Given the description of an element on the screen output the (x, y) to click on. 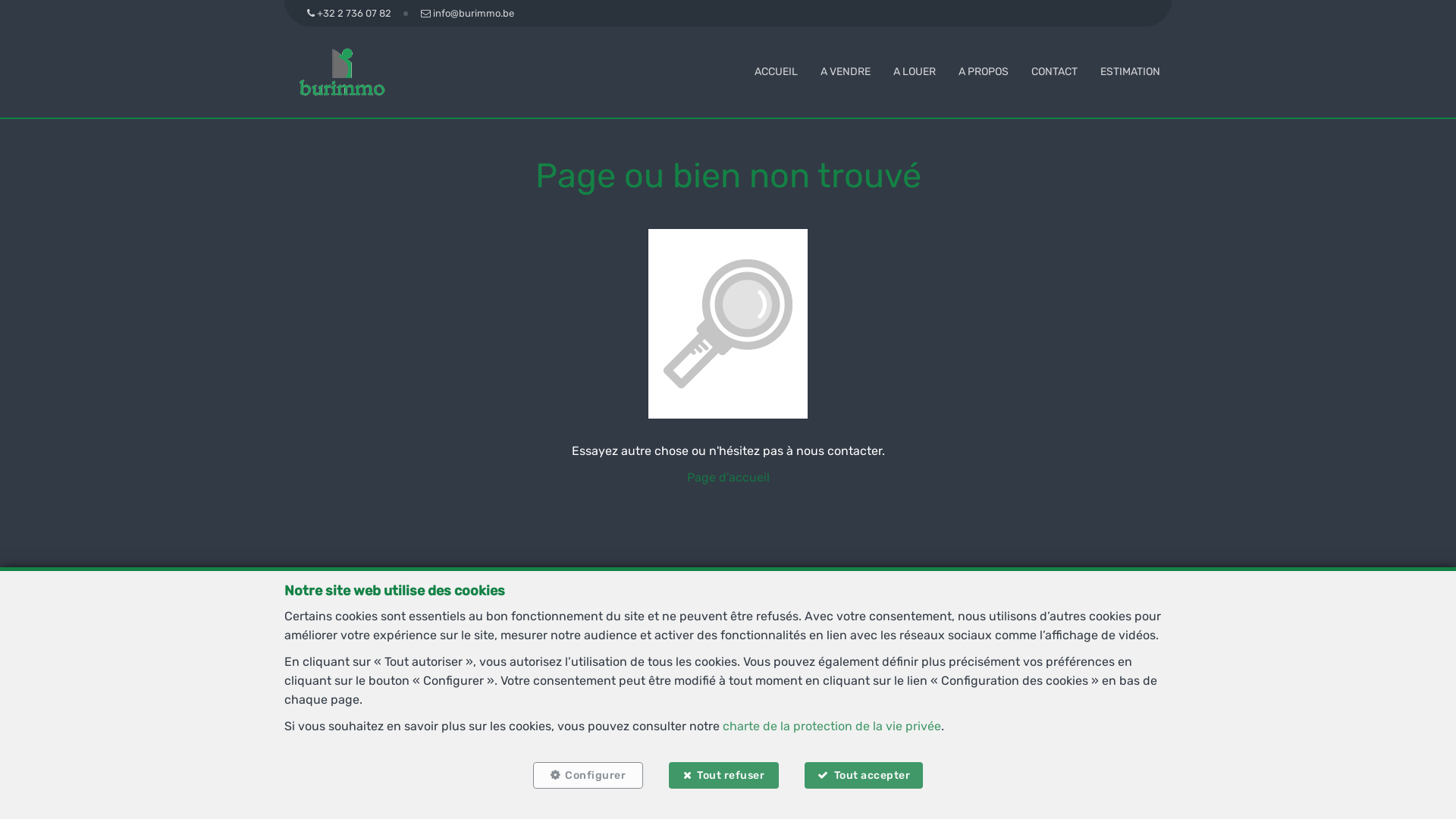
Page d'accueil Element type: text (728, 477)
Tout accepter Element type: text (863, 775)
+32 2 736 07 82 Element type: text (351, 13)
02 736 07 82 Element type: text (691, 698)
Tout refuser Element type: text (723, 775)
DESIGNED AND DEVELOPED BY WEBULOUS.IO Element type: text (791, 803)
Configuration des cookies Element type: text (909, 770)
info@burimmo.be Element type: text (467, 13)
ESTIMATION Element type: text (1130, 71)
ACCUEIL Element type: text (775, 71)
A LOUER Element type: text (914, 71)
A VENDRE Element type: text (845, 71)
A PROPOS Element type: text (983, 71)
POWERED BY WHISE Element type: text (592, 803)
info@burimmo.be Element type: text (776, 698)
CONTACT Element type: text (1054, 71)
Configurer Element type: text (588, 775)
